Given the description of an element on the screen output the (x, y) to click on. 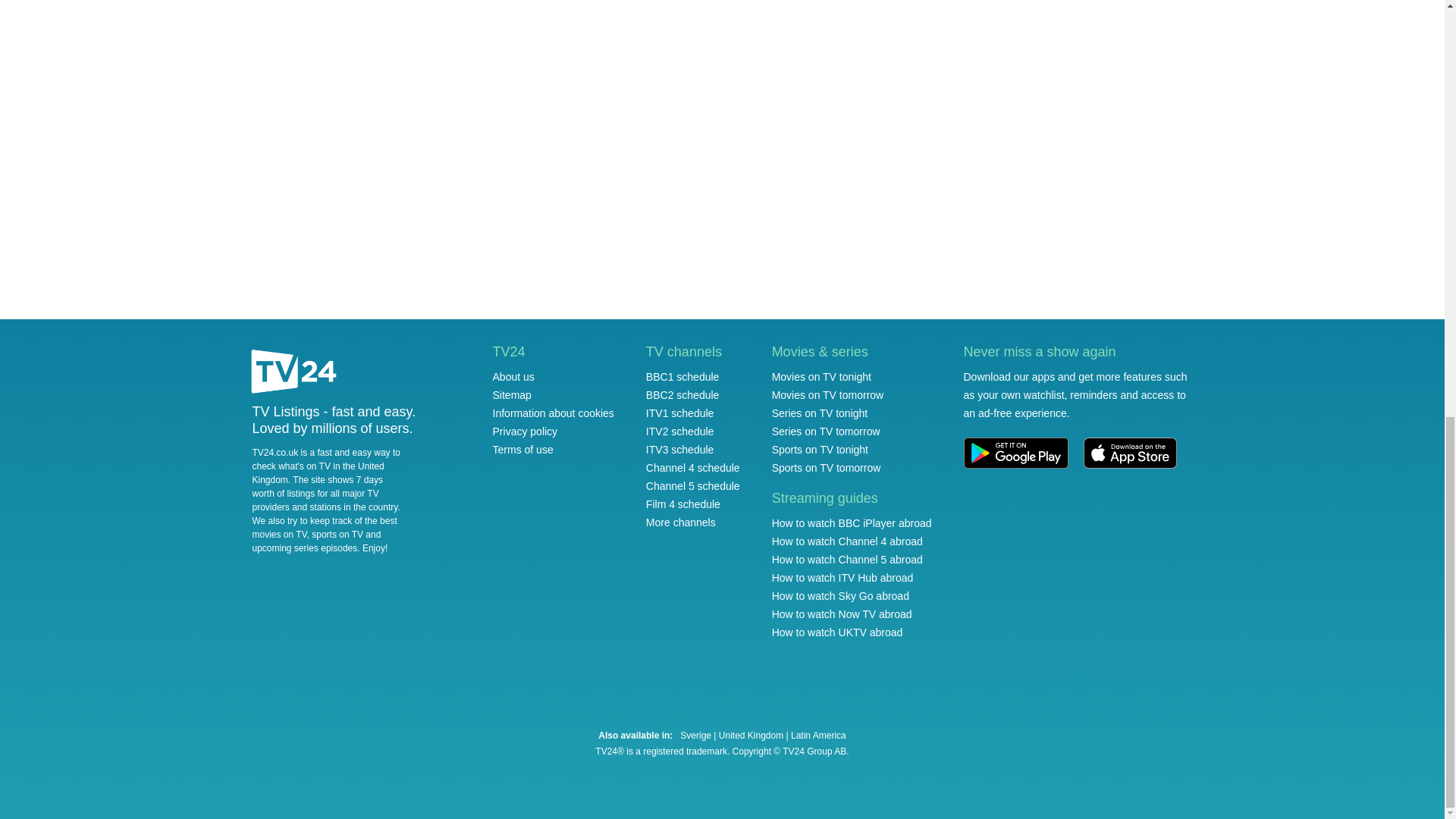
Sitemap (512, 395)
Terms of use (523, 449)
BBC1 schedule (682, 377)
ITV1 schedule (680, 413)
Channel 5 schedule (692, 485)
Privacy policy (525, 431)
upcoming series episodes (303, 547)
About us (513, 377)
Channel 5 schedule (692, 485)
BBC1 schedule (682, 377)
Film 4 schedule (683, 503)
sports on TV (336, 534)
ITV2 schedule (680, 431)
BBC2 schedule (682, 395)
Channel 4 schedule (692, 467)
